Given the description of an element on the screen output the (x, y) to click on. 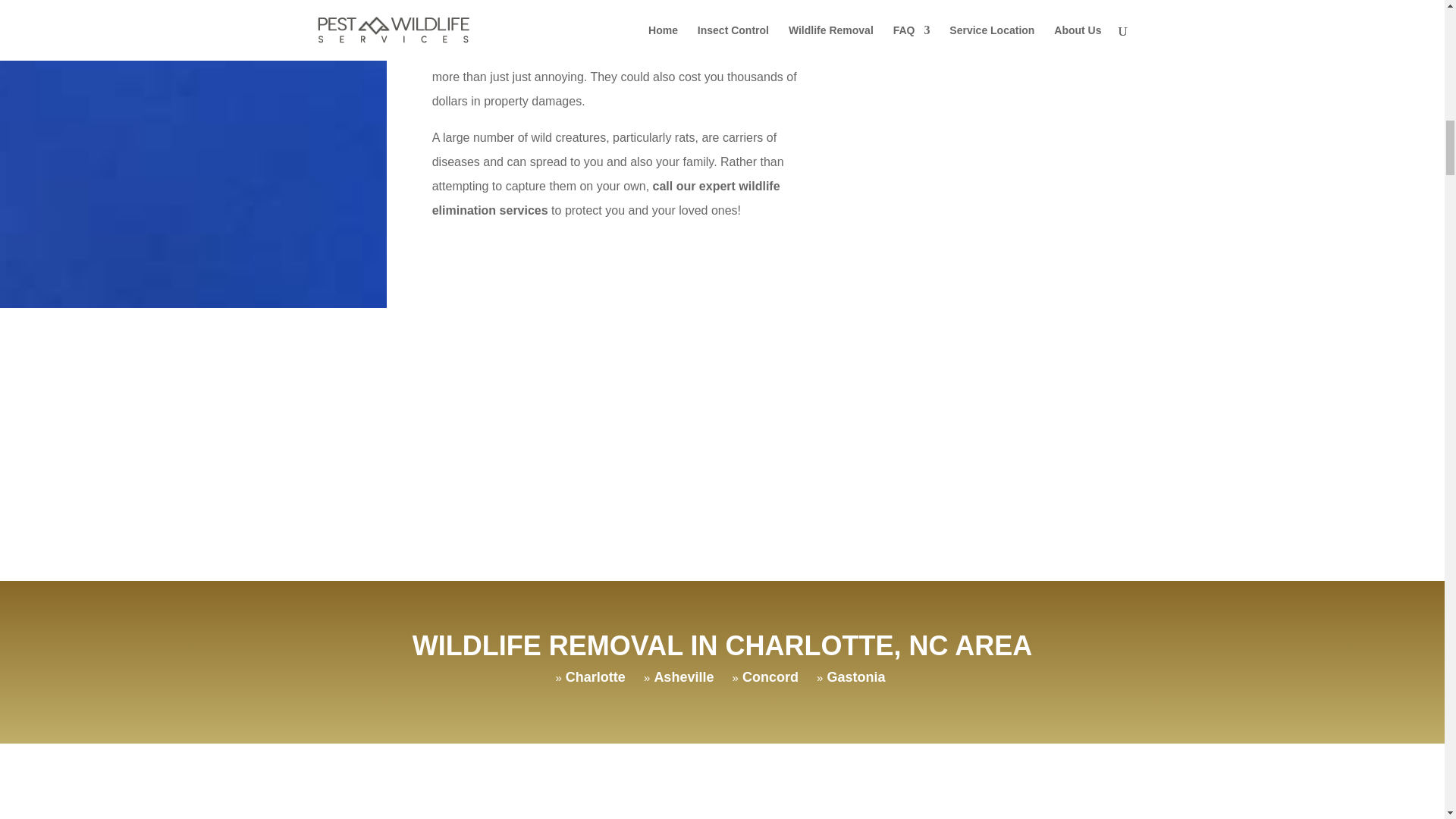
Charlotte (596, 676)
Gastonia (856, 676)
Concord (769, 676)
Asheville (683, 676)
